Given the description of an element on the screen output the (x, y) to click on. 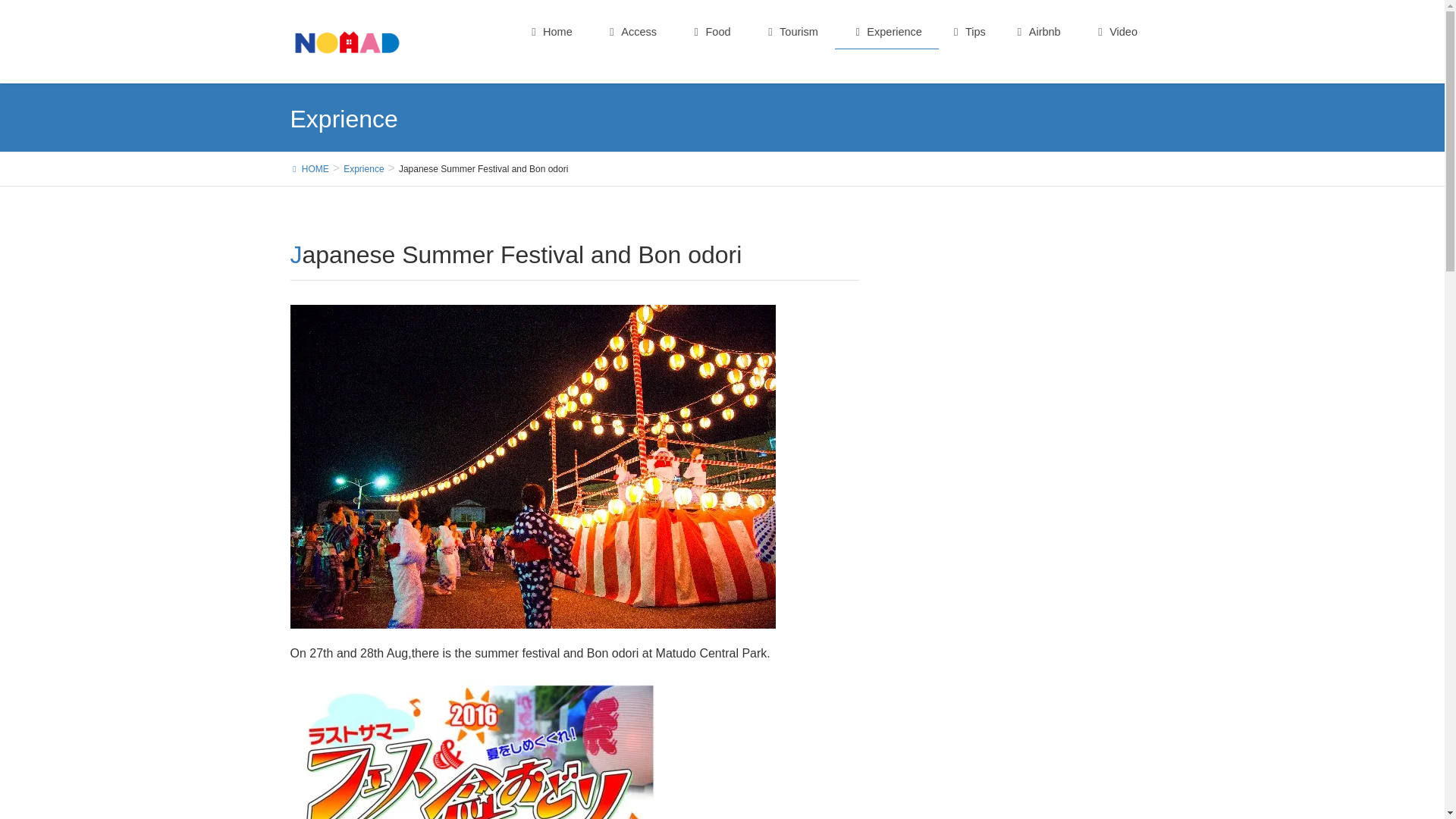
Access (630, 32)
Exprience (363, 167)
Tips (967, 32)
Video (1115, 32)
Food (711, 32)
HOME (309, 167)
Home (550, 32)
Tourism (791, 32)
Experience (886, 32)
Airbnb (1037, 32)
